Given the description of an element on the screen output the (x, y) to click on. 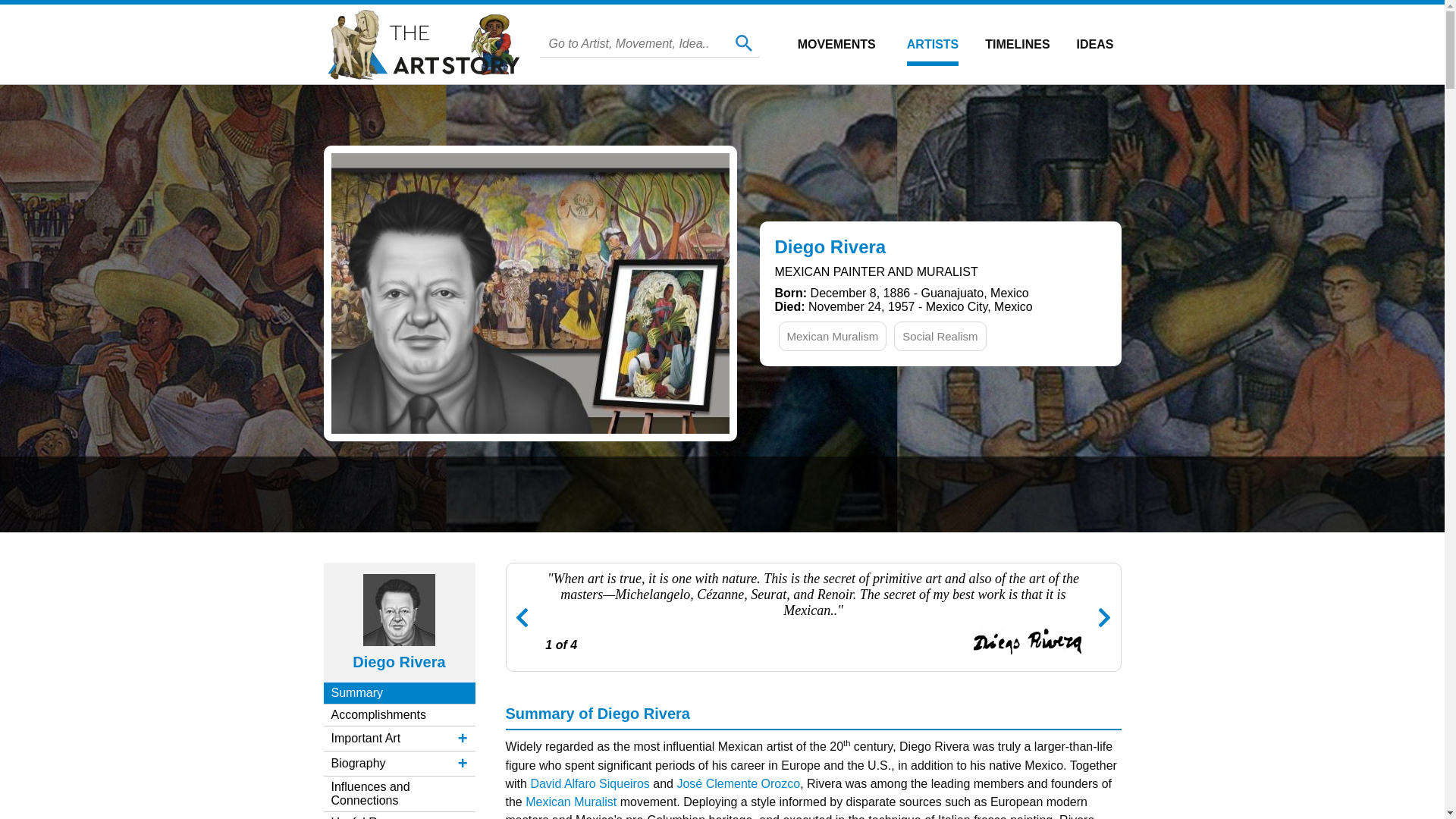
Mexican Muralist (570, 801)
ARTISTS (932, 43)
Mexican Muralism (832, 335)
MOVEMENTS (836, 43)
Social Realism (939, 335)
TIMELINES (1017, 43)
IDEAS (1095, 43)
David Alfaro Siqueiros (589, 783)
The Art Story (425, 43)
